Given the description of an element on the screen output the (x, y) to click on. 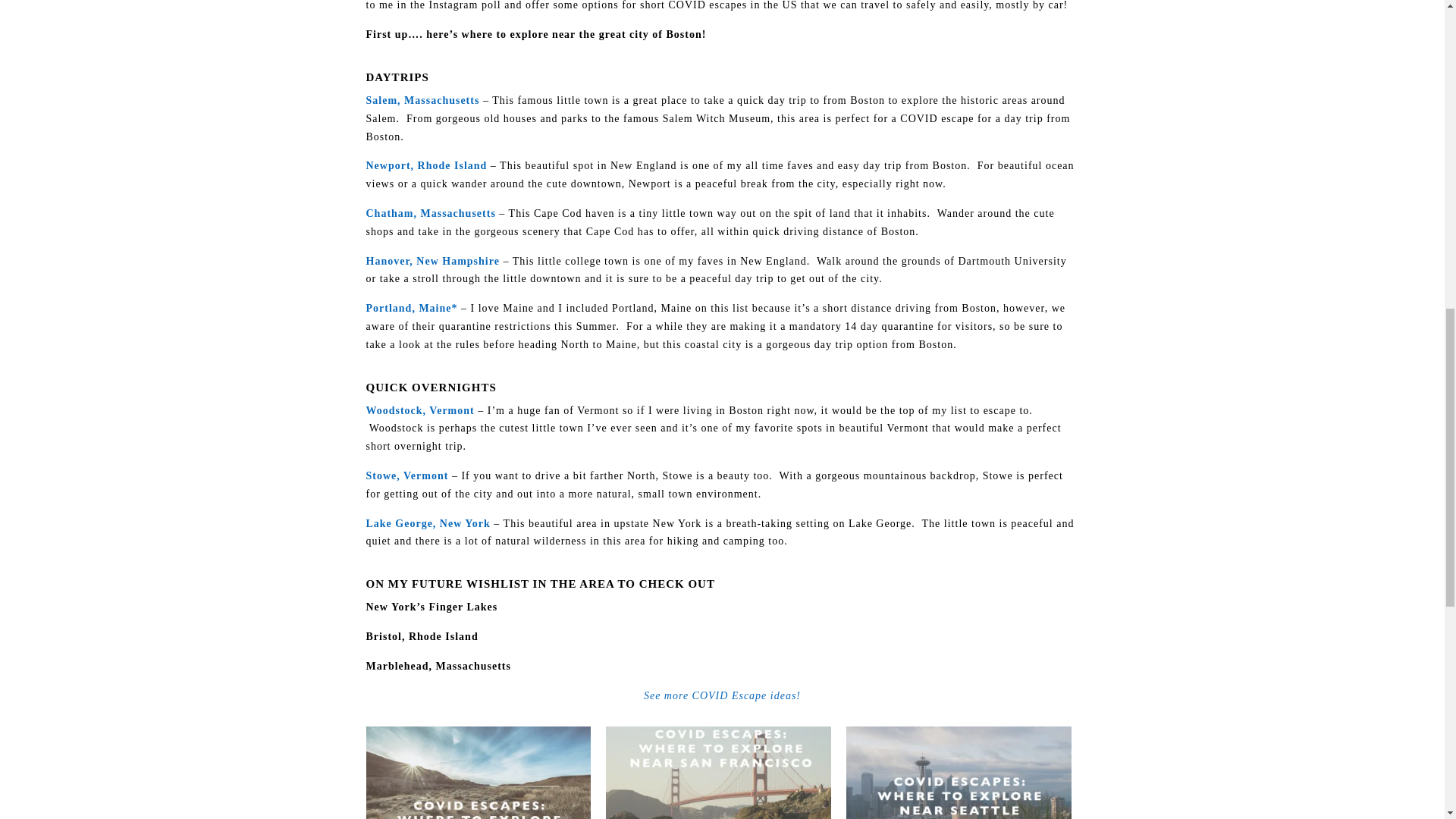
See more COVID Escape ideas! (721, 695)
COVID Escapes : Where to Explore Near San Francisco (718, 772)
Newport, Rhode Island (425, 165)
Stowe, Vermont (408, 475)
Chatham, Massachusetts (430, 213)
COVID Escapes : Where to Explore Near Seattle (958, 772)
COVID Escapes : Where to Explore Near Phoenix (478, 772)
Lake George, New York (427, 523)
Salem, Massachusetts (422, 100)
Woodstock, Vermont (421, 410)
Hanover, New Hampshire (432, 260)
